Given the description of an element on the screen output the (x, y) to click on. 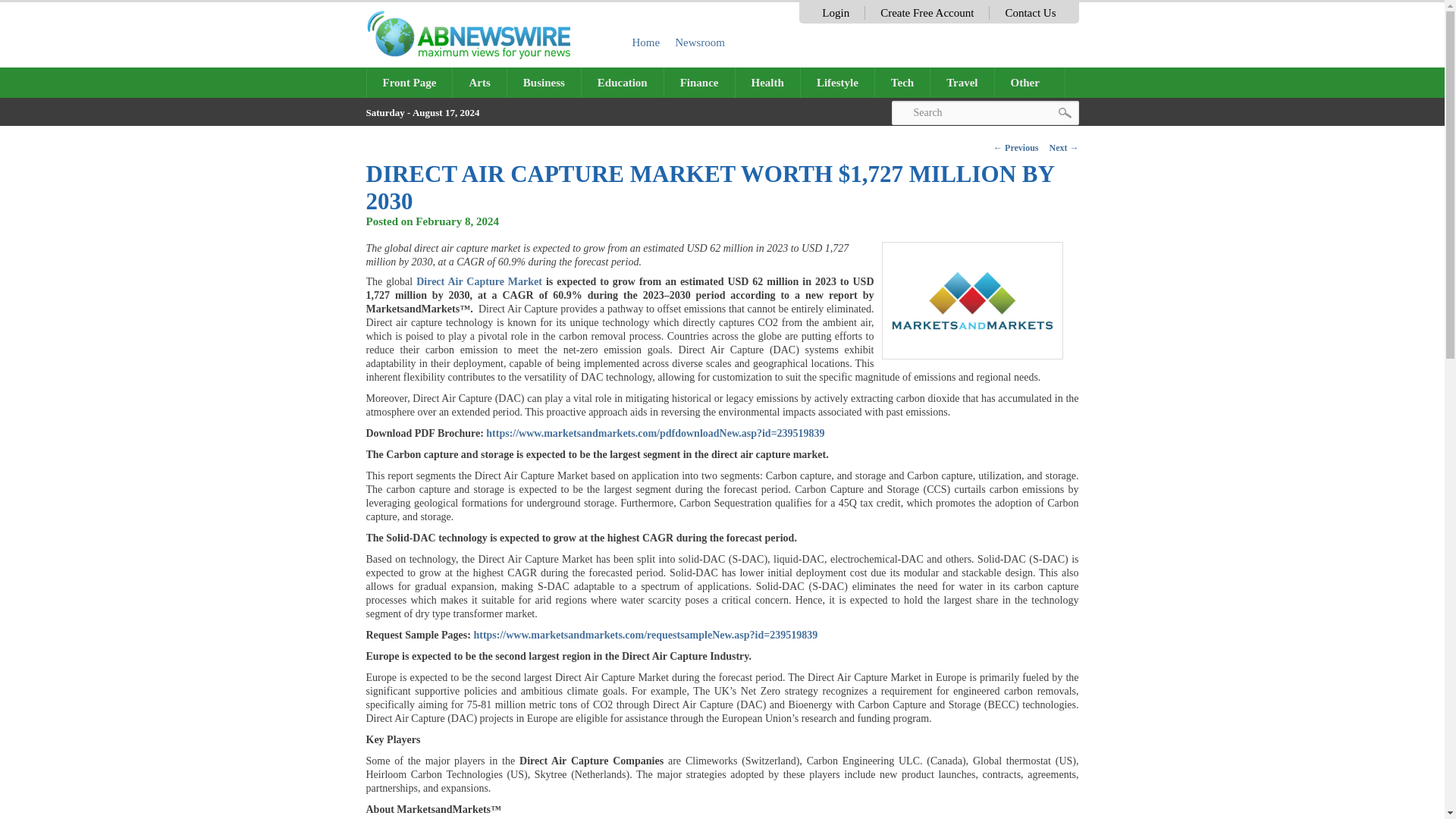
Other (1029, 82)
Newsroom (700, 42)
Contact Us (1030, 12)
Travel (961, 82)
Home (646, 42)
Create Free Account (926, 12)
Tech (901, 82)
Front Page (409, 82)
Business (544, 82)
Arts (478, 82)
